Given the description of an element on the screen output the (x, y) to click on. 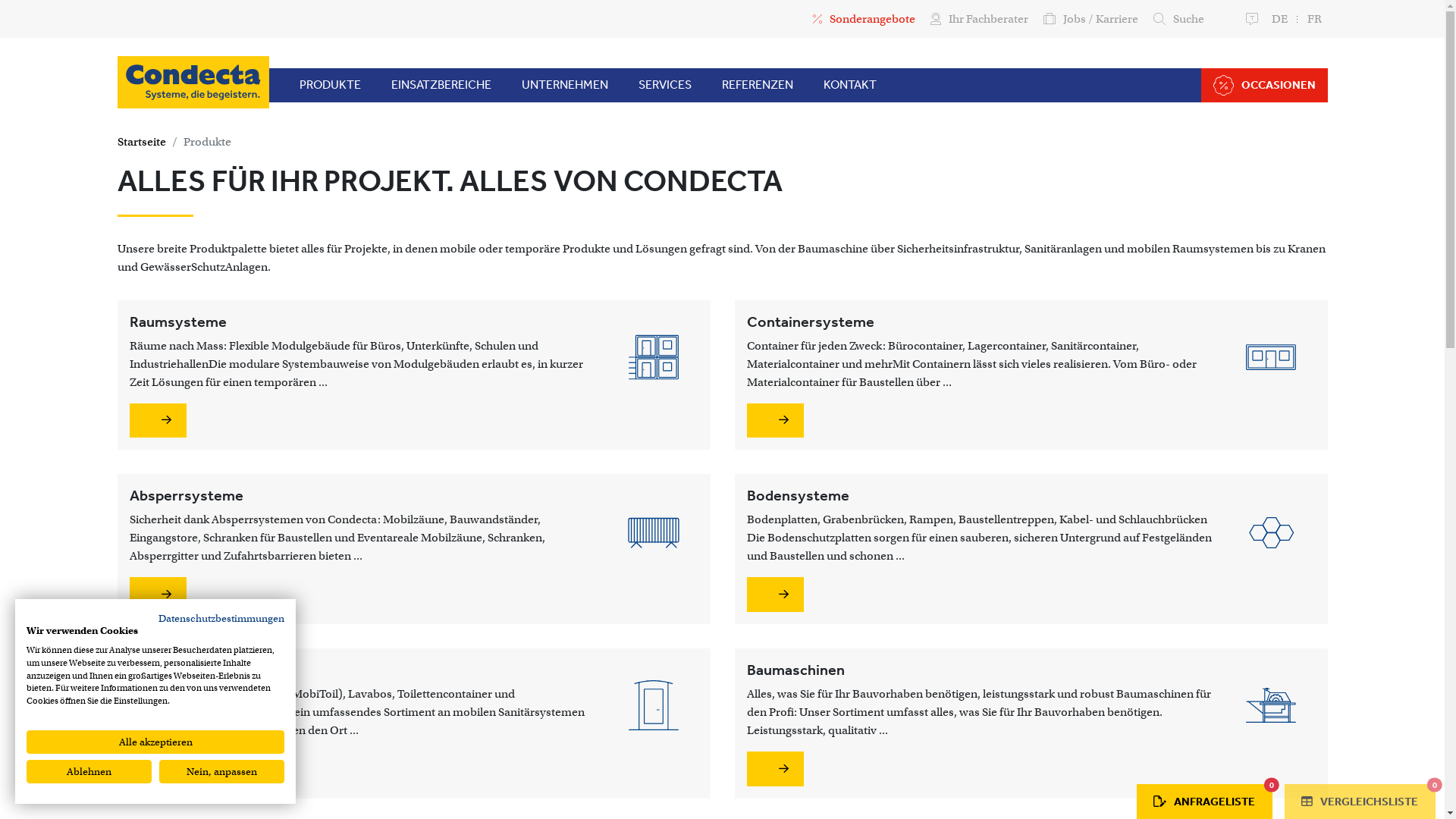
Alle akzeptieren Element type: text (155, 741)
FR Element type: text (1314, 18)
UNTERNEHMEN Element type: text (564, 84)
Datenschutzbestimmungen Element type: text (221, 617)
DE Element type: text (1278, 18)
Ablehnen Element type: text (88, 771)
Ihr Fachberater Element type: text (978, 18)
EINSATZBEREICHE Element type: text (441, 84)
PRODUKTE Element type: text (329, 84)
REFERENZEN Element type: text (757, 84)
Startseite Element type: text (140, 141)
SERVICES Element type: text (664, 84)
Suche Element type: text (1178, 18)
OCCASIONEN Element type: text (1264, 85)
Sonderangebote Element type: text (863, 18)
Produkte Element type: text (207, 141)
Nein, anpassen Element type: text (221, 771)
KONTAKT Element type: text (849, 84)
Jobs / Karriere Element type: text (1090, 18)
